Given the description of an element on the screen output the (x, y) to click on. 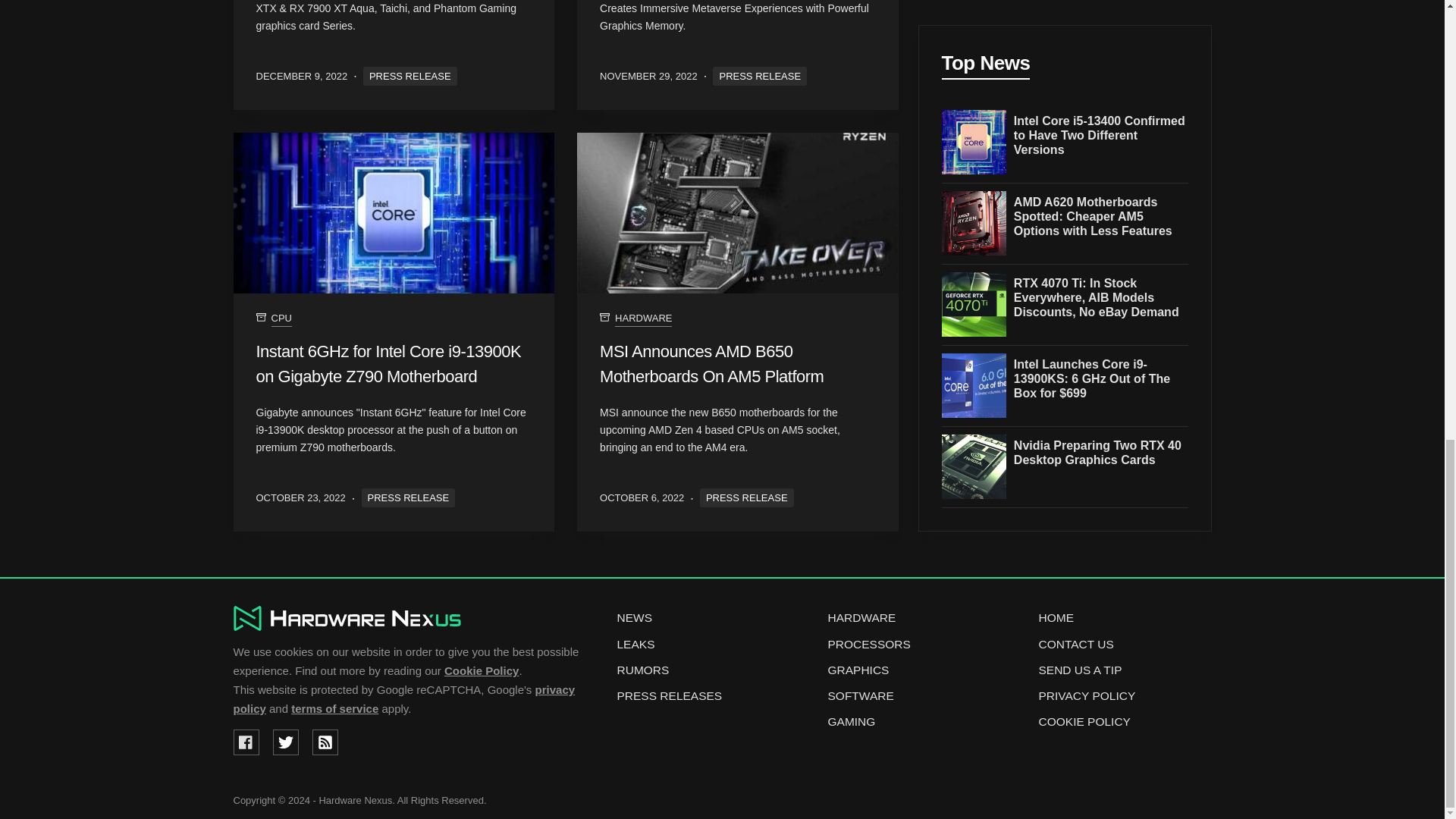
Hardware Nexus Footer (346, 618)
